Given the description of an element on the screen output the (x, y) to click on. 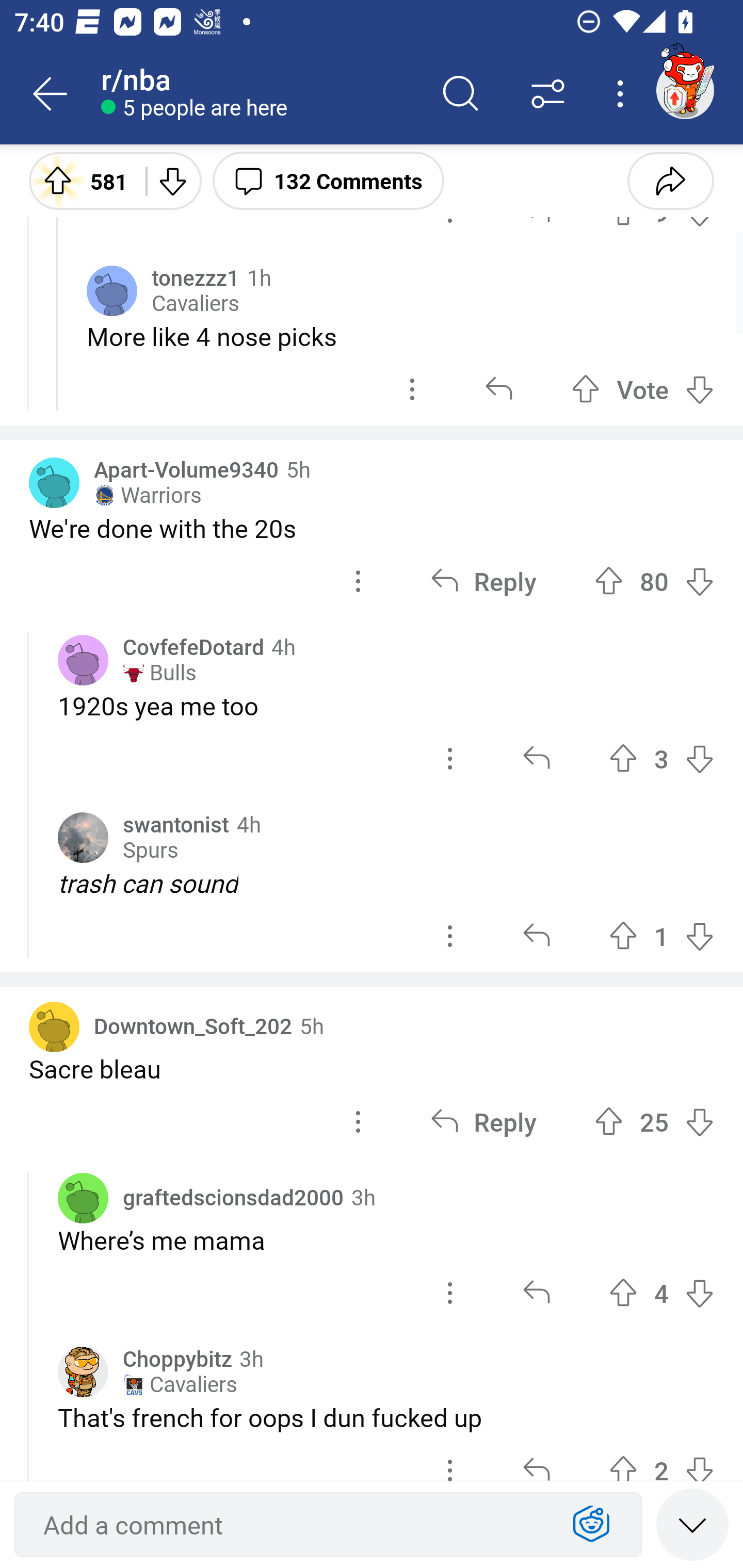
Back (50, 93)
TestAppium002 account (685, 90)
Search comments (460, 93)
Sort comments (547, 93)
More options (623, 93)
r/nba 5 people are here (259, 93)
Upvote 581 (79, 180)
Downvote (171, 180)
132 Comments (328, 180)
Share (670, 180)
Avatar (111, 290)
Cavaliers (195, 303)
More like 4 nose picks (400, 335)
options (412, 388)
Upvote Vote Downvote (642, 388)
Avatar (53, 482)
￼ Warriors (147, 495)
We're done with the 20s (371, 528)
options (358, 581)
Reply (483, 581)
Upvote 80 80 votes Downvote (654, 581)
Avatar (82, 660)
￼ Bulls (159, 672)
1920s yea me too (385, 705)
options (449, 758)
Upvote 3 3 votes Downvote (661, 758)
Avatar (82, 837)
Spurs (150, 849)
trash can sound (385, 882)
options (449, 936)
Upvote 1 1 vote Downvote (661, 936)
Avatar (53, 1026)
Sacre bleau (371, 1068)
options (358, 1121)
Reply (483, 1121)
Upvote 25 25 votes Downvote (654, 1121)
Avatar (82, 1197)
Where’s me mama (385, 1240)
options (449, 1293)
Upvote 4 4 votes Downvote (661, 1293)
Custom avatar (82, 1371)
￼ Cavaliers (179, 1384)
That's french for oops I dun fucked up (385, 1417)
Speed read (692, 1524)
Add a comment (291, 1524)
Show Expressions (590, 1524)
